Given the description of an element on the screen output the (x, y) to click on. 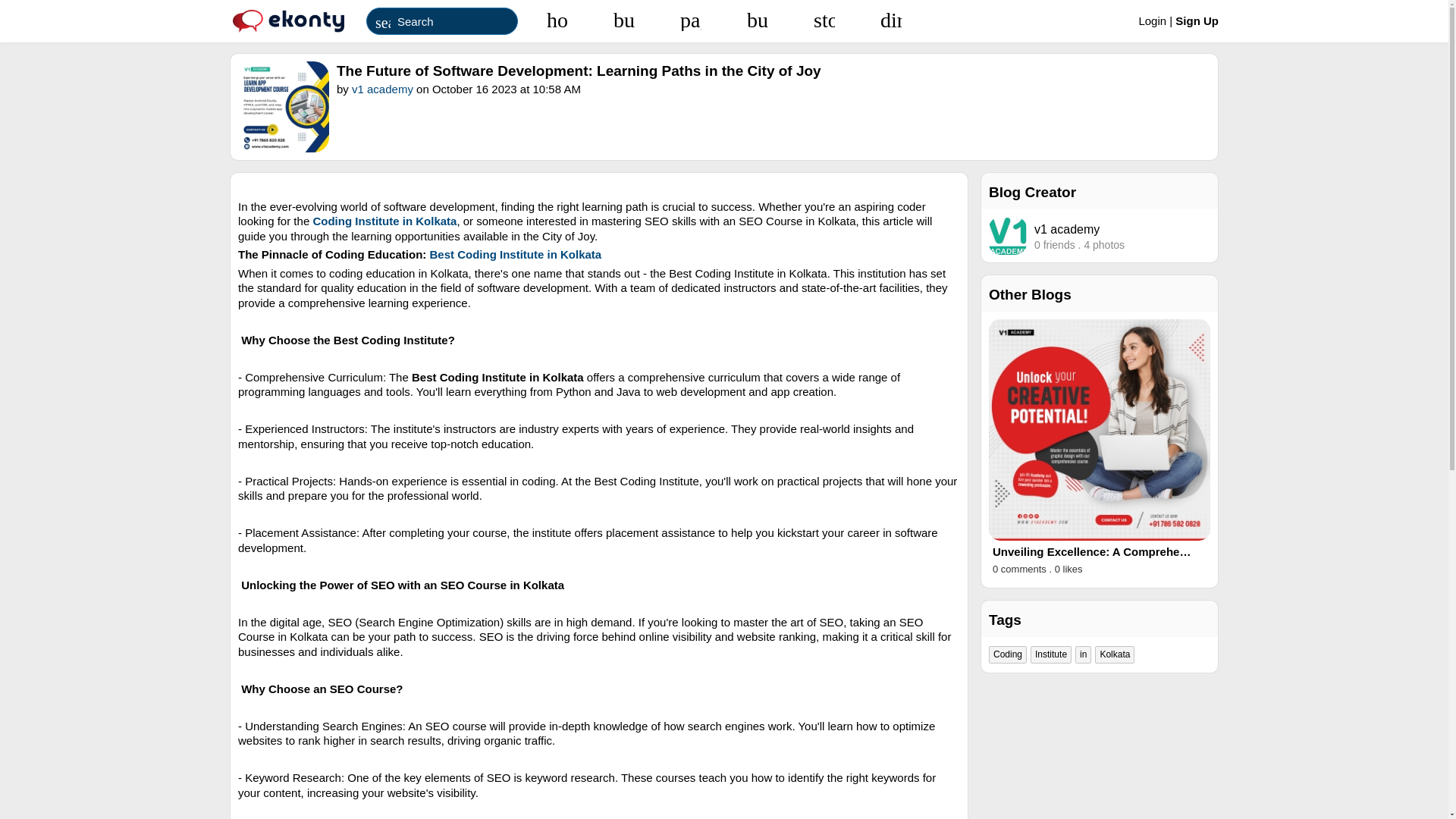
Sign Up (1196, 20)
Unveiling Excellence: A Comprehensive Review of V1 Academy (1091, 551)
Coding (1007, 655)
v1 academy (382, 88)
v1 academy (1066, 229)
Kolkata (1114, 655)
pages (690, 20)
storefront (823, 20)
Coding Institute in Kolkata (385, 220)
Login (1153, 20)
